Given the description of an element on the screen output the (x, y) to click on. 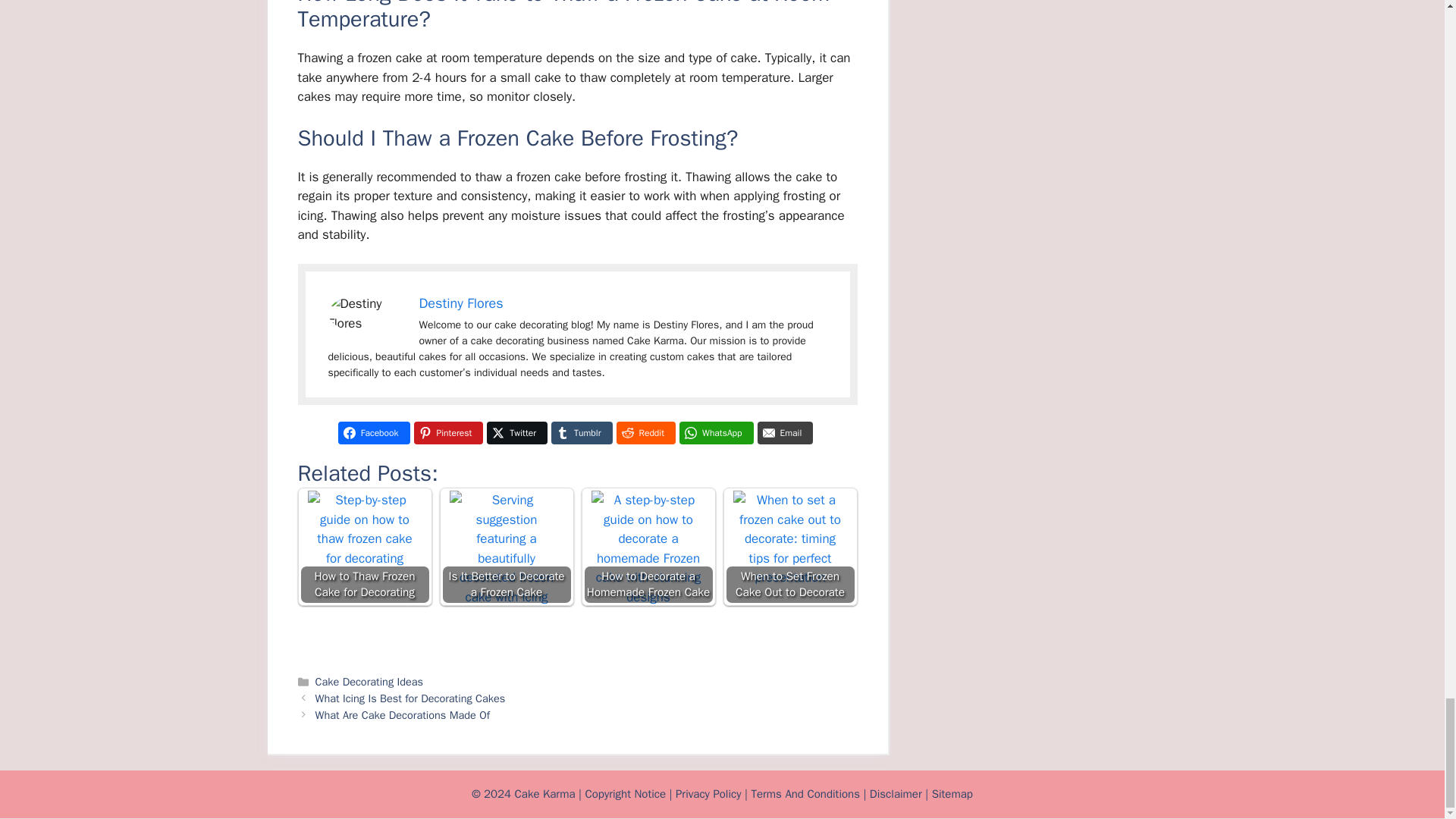
Destiny Flores (460, 303)
Pinterest (448, 432)
Facebook (373, 432)
